Given the description of an element on the screen output the (x, y) to click on. 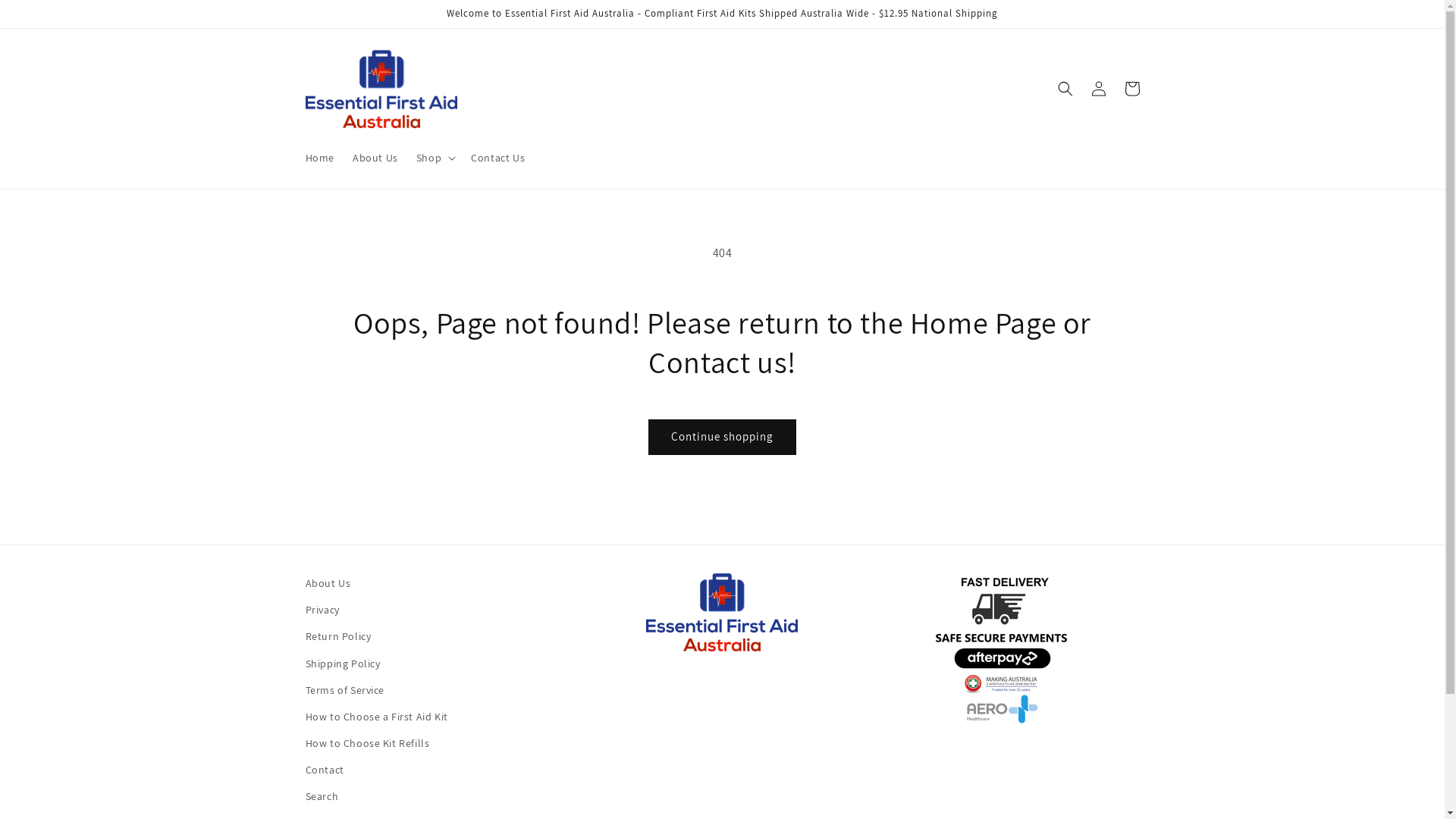
How to Choose a First Aid Kit Element type: text (375, 716)
Contact Element type: text (323, 769)
Shipping Policy Element type: text (341, 663)
Return Policy Element type: text (337, 636)
Continue shopping Element type: text (722, 437)
Cart Element type: text (1131, 88)
Privacy Element type: text (321, 609)
Search Element type: text (321, 796)
About Us Element type: text (327, 585)
Contact Us Element type: text (497, 157)
Home Element type: text (318, 157)
Terms of Service Element type: text (344, 690)
About Us Element type: text (375, 157)
Log in Element type: text (1097, 88)
How to Choose Kit Refills Element type: text (366, 743)
